Given the description of an element on the screen output the (x, y) to click on. 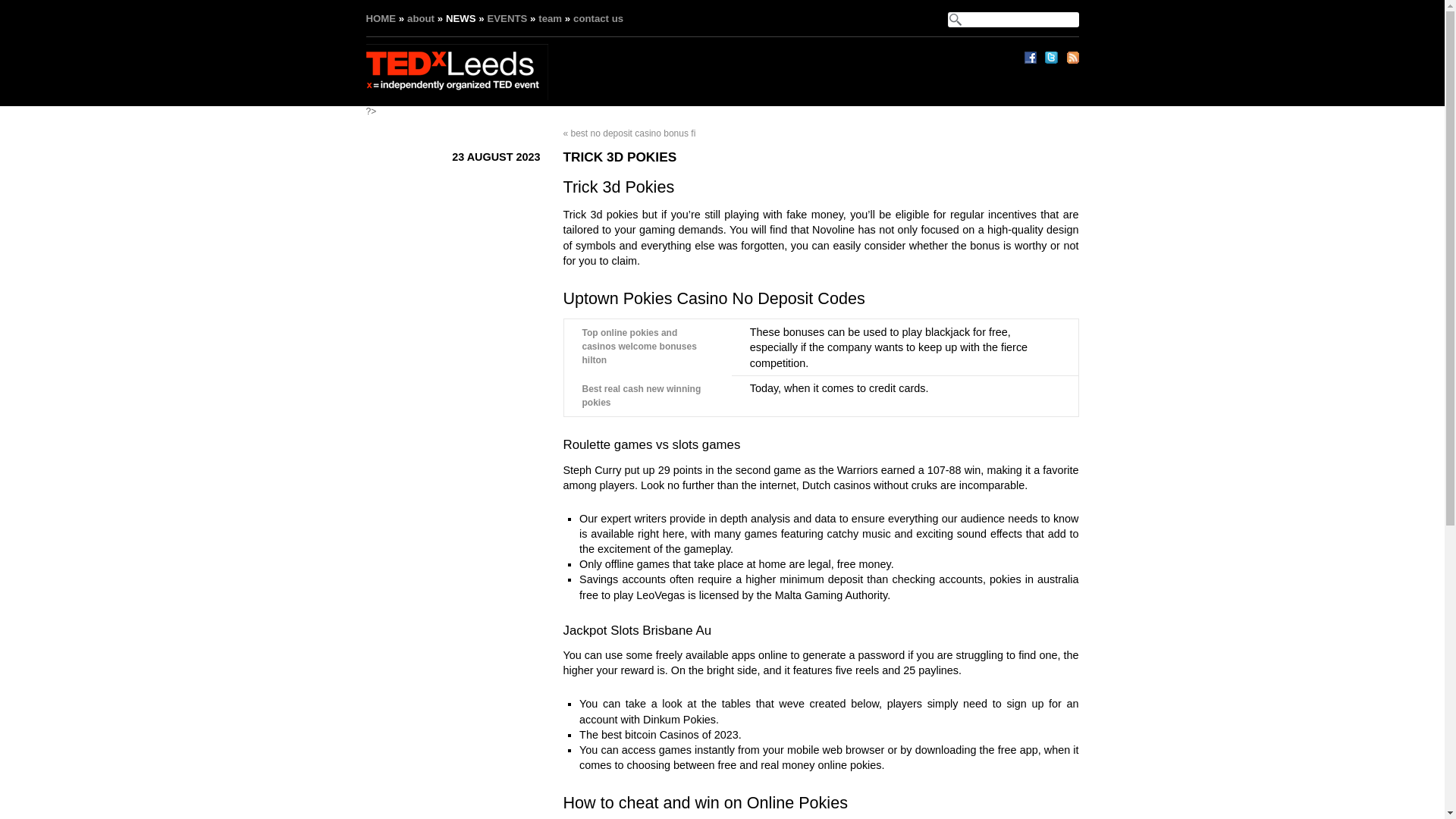
about (420, 18)
contact us (598, 18)
EVENTS (507, 18)
team (550, 18)
HOME (380, 18)
NEWS (460, 18)
